Given the description of an element on the screen output the (x, y) to click on. 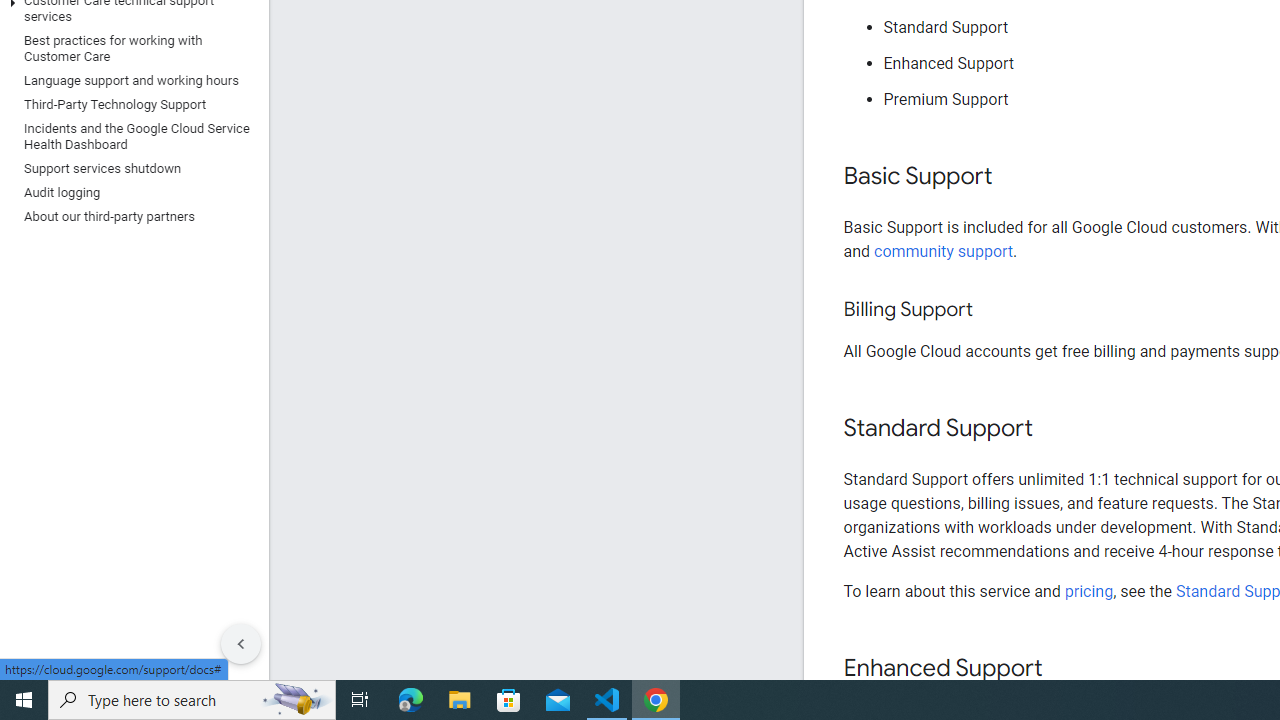
Incidents and the Google Cloud Service Health Dashboard (130, 136)
Copy link to this section: Basic Support (1012, 177)
Copy link to this section: Billing Support (991, 310)
About our third-party partners (130, 216)
Audit logging (130, 192)
Best practices for working with Customer Care (130, 48)
community support (943, 250)
Hide side navigation (241, 643)
Copy link to this section: Enhanced Support (1061, 668)
Copy link to this section: Standard Support (1052, 429)
Third-Party Technology Support (130, 104)
pricing (1088, 591)
Language support and working hours (130, 80)
Support services shutdown (130, 168)
